Given the description of an element on the screen output the (x, y) to click on. 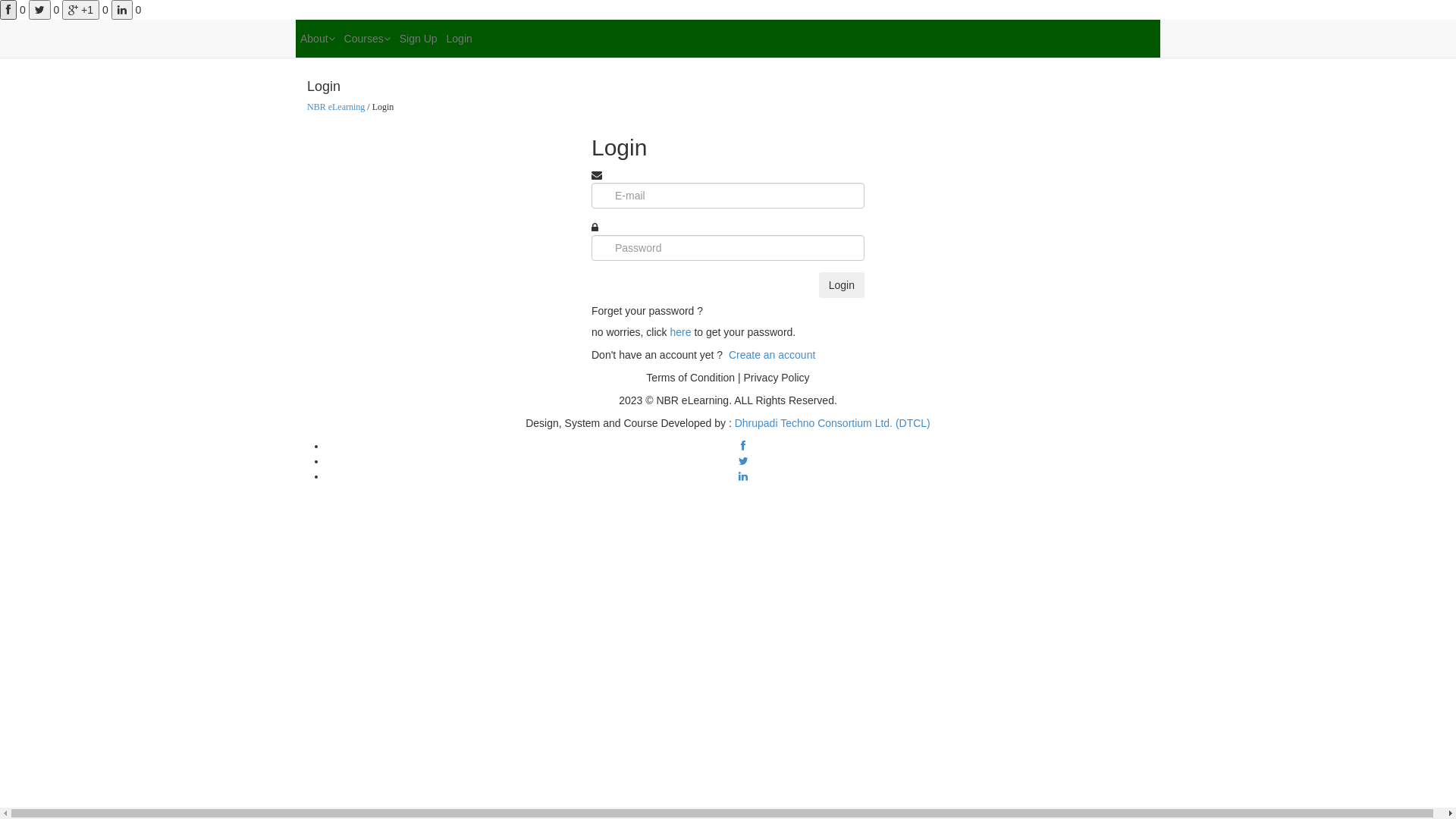
Sign Up Element type: text (418, 38)
Dhrupadi Techno Consortium Ltd. (DTCL) Element type: text (832, 423)
Login Element type: text (459, 38)
+1 Element type: text (80, 9)
NBR eLearning Element type: text (335, 106)
Courses Element type: text (367, 38)
Create an account Element type: text (771, 354)
here Element type: text (681, 332)
Login Element type: text (841, 285)
About Element type: text (317, 38)
